Given the description of an element on the screen output the (x, y) to click on. 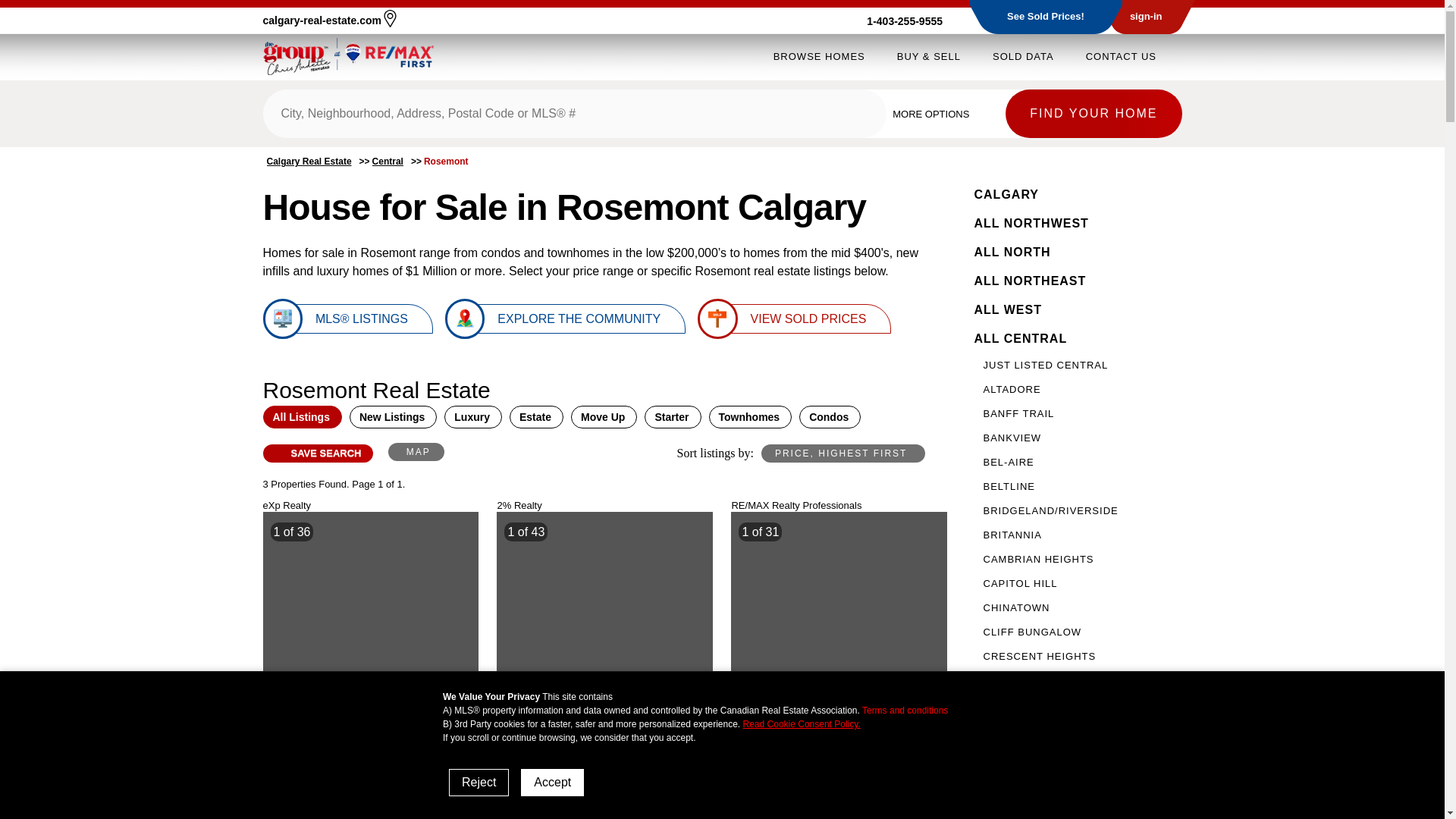
sign-in (1145, 16)
Townhomes  (750, 416)
View listings on a map (416, 452)
BROWSE HOMES (818, 56)
All Listings (301, 416)
Site Logo (347, 56)
70 Chelsea Street Nw in Rosemont For Sale (604, 592)
1-403-255-9555 (913, 20)
SOLD DATA (1023, 56)
See Sold Prices! (1045, 16)
